Given the description of an element on the screen output the (x, y) to click on. 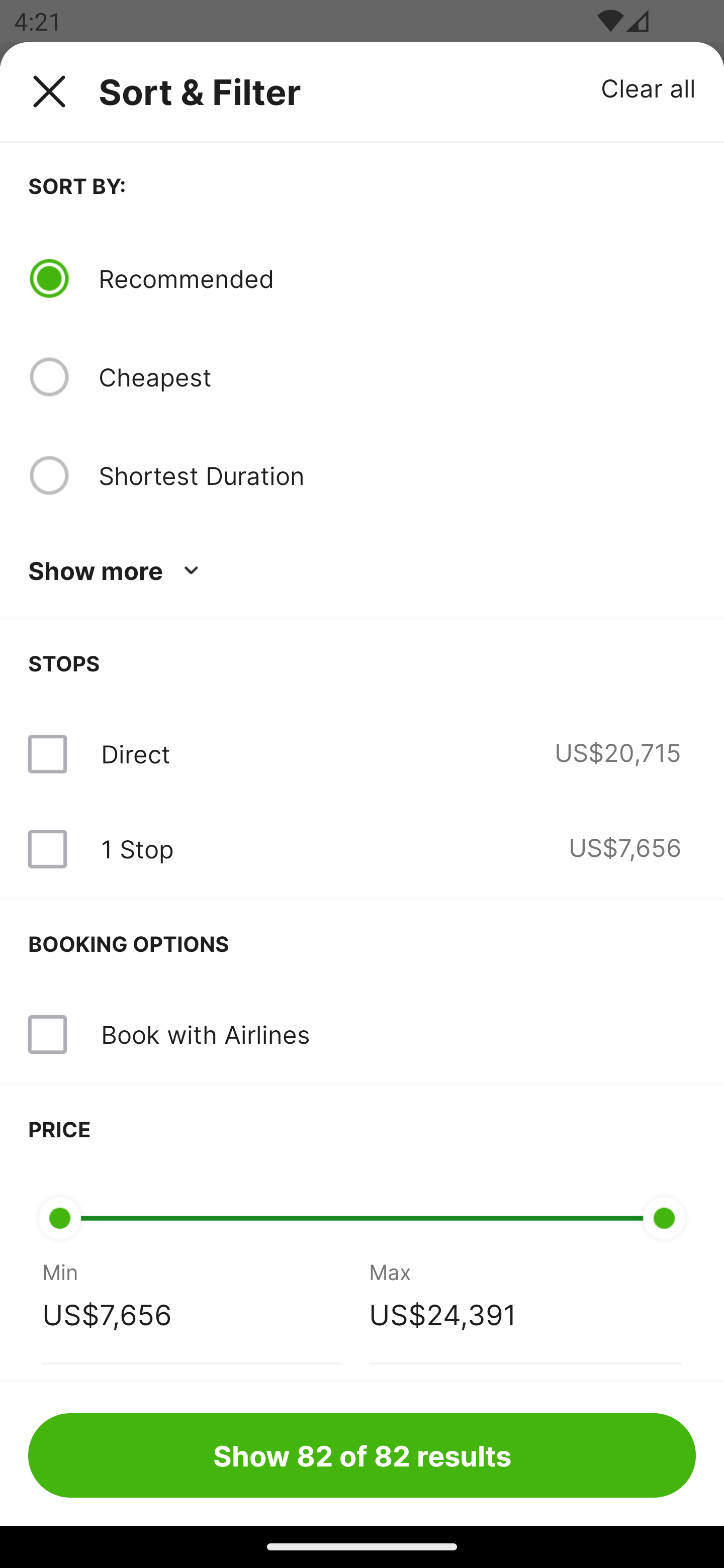
Clear all (648, 87)
Recommended  (396, 278)
Cheapest (396, 377)
Shortest Duration (396, 474)
Show more (116, 570)
Direct US$20,715 (362, 754)
Direct (135, 753)
1 Stop US$7,656 (362, 848)
1 Stop (136, 849)
Book with Airlines (362, 1033)
Book with Airlines (204, 1034)
Show 82 of 82 results (361, 1454)
